Given the description of an element on the screen output the (x, y) to click on. 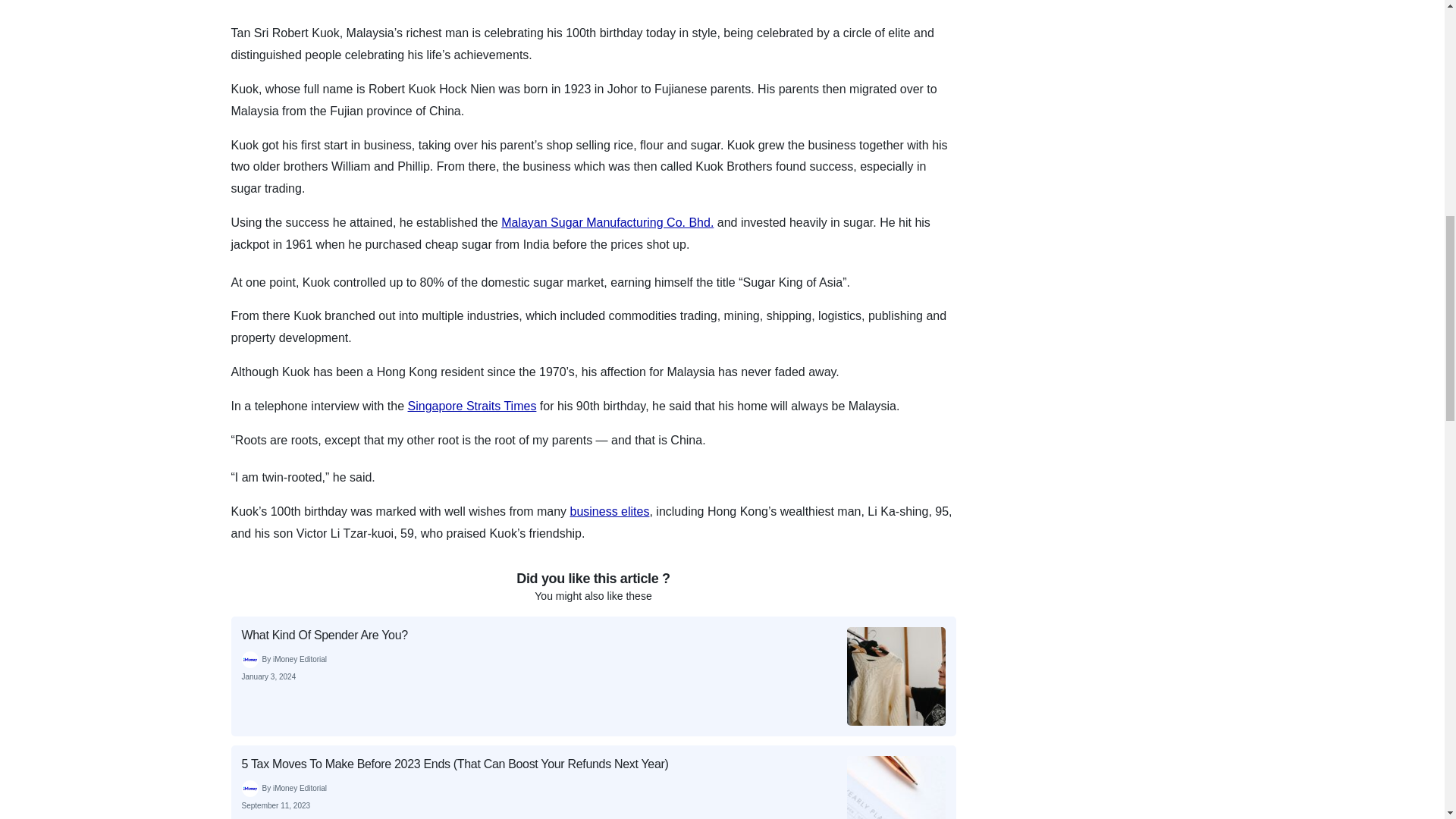
What Kind Of Spender Are You? (592, 676)
